Given the description of an element on the screen output the (x, y) to click on. 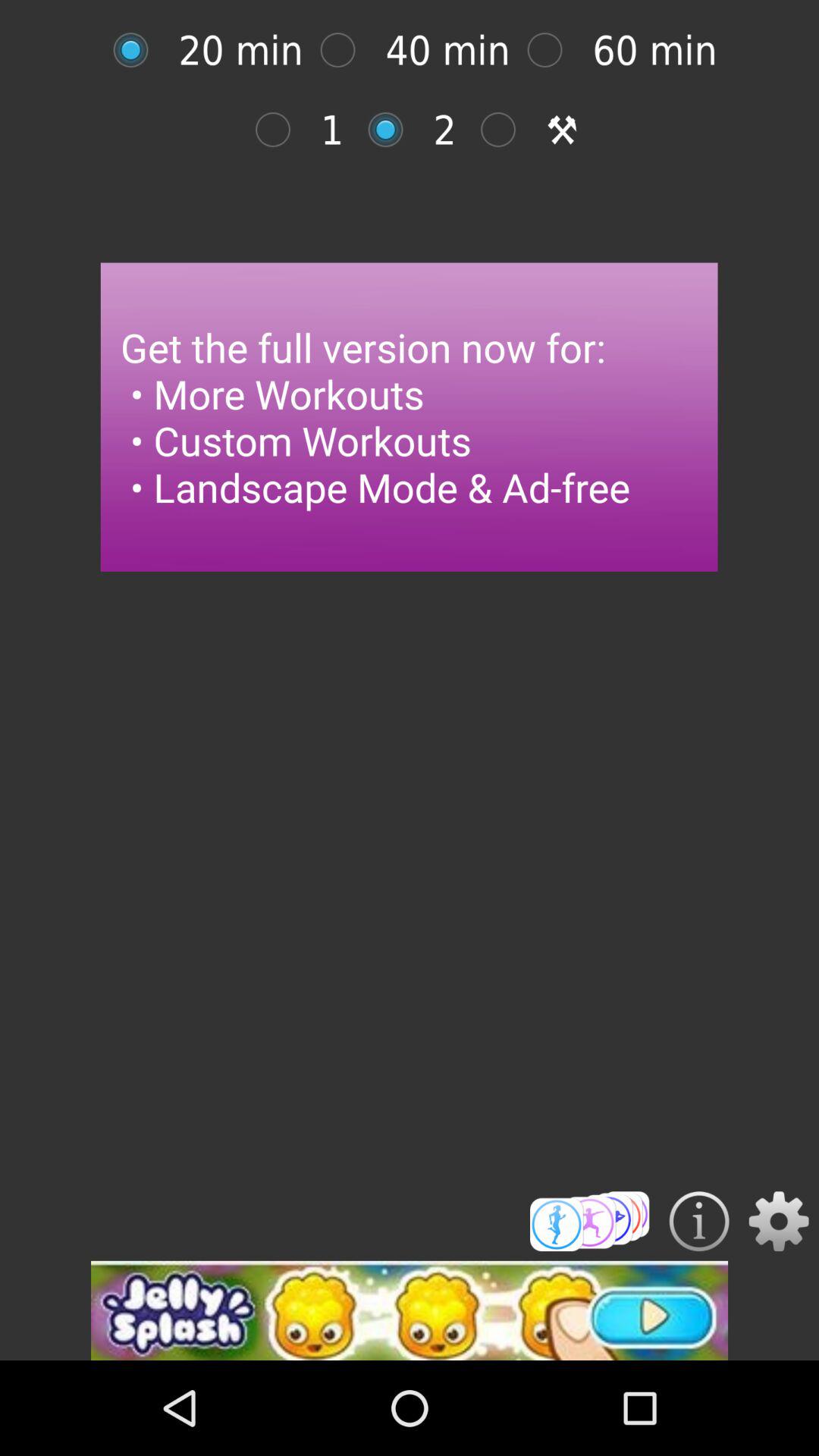
mention of option (393, 129)
